Given the description of an element on the screen output the (x, y) to click on. 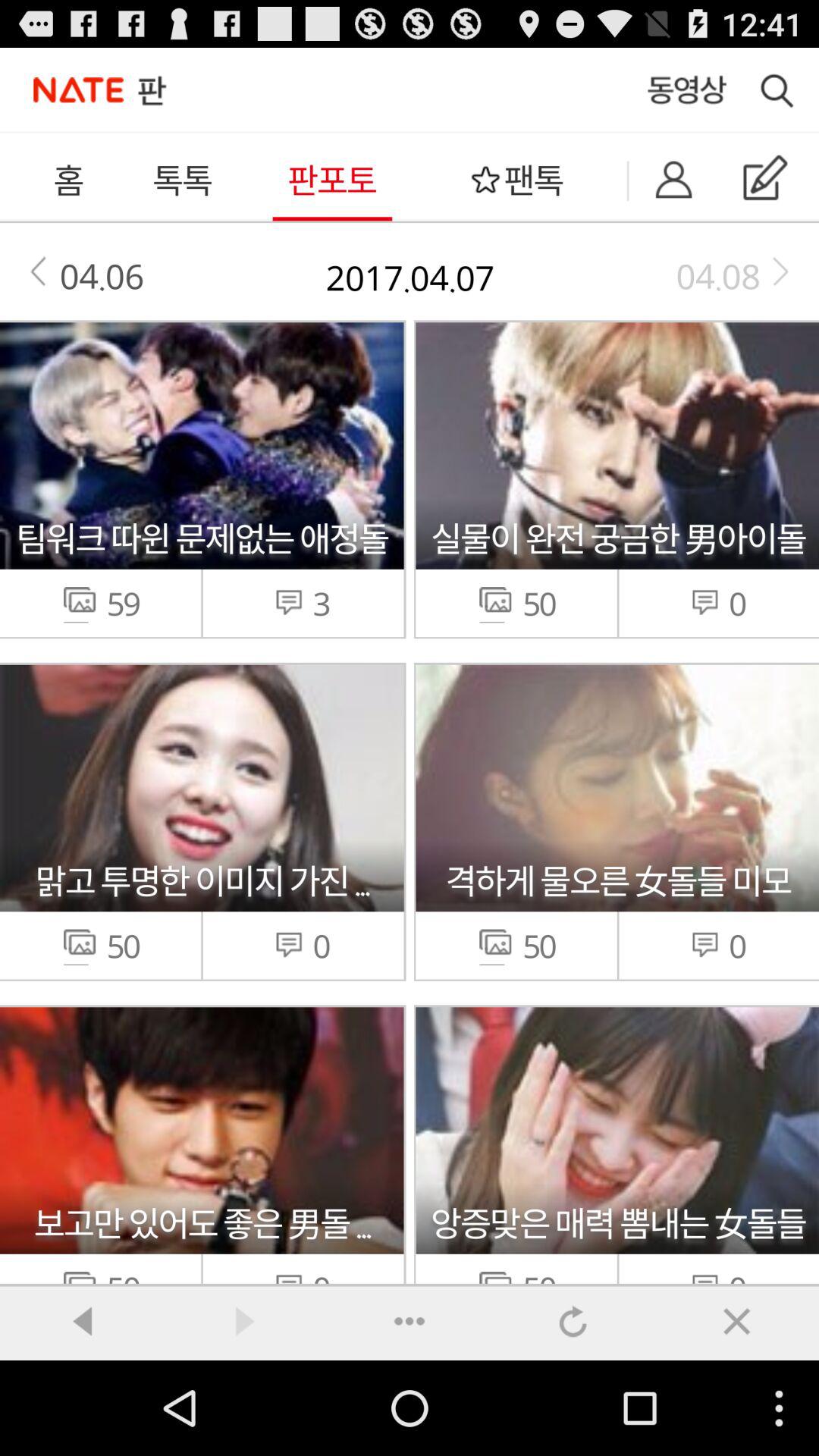
close it (737, 1320)
